Given the description of an element on the screen output the (x, y) to click on. 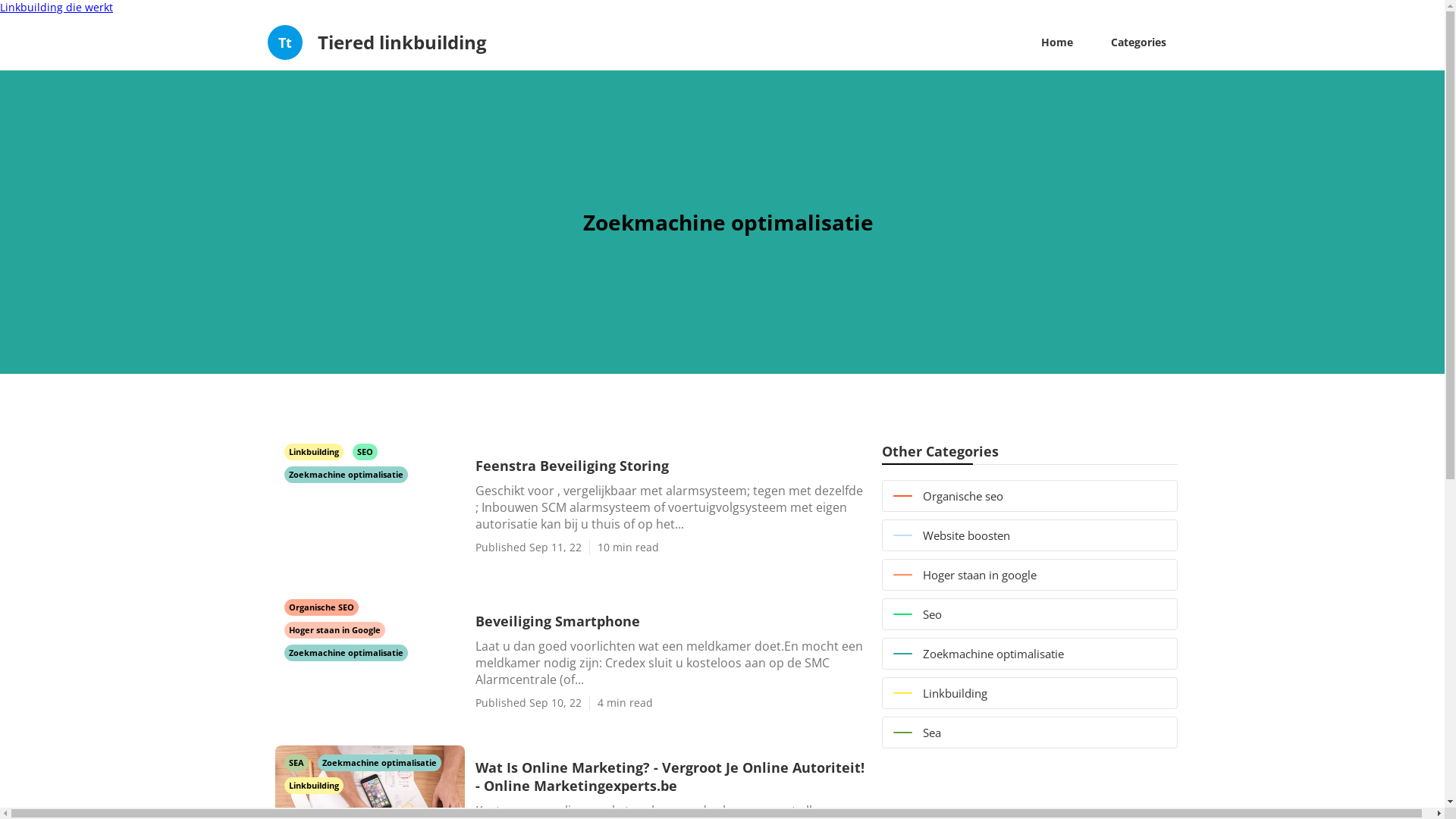
Feenstra Beveiliging Storing Element type: text (670, 465)
Website boosten Element type: text (1028, 535)
Linkbuilding Element type: text (1028, 693)
Zoekmachine optimalisatie Element type: text (345, 473)
SEO Element type: text (363, 450)
SEA Element type: text (296, 761)
Seo Element type: text (1028, 614)
Linkbuilding die werkt Element type: text (56, 7)
Beveiliging Smartphone Element type: text (670, 620)
Hoger staan in Google Element type: text (333, 628)
Linkbuilding Element type: text (314, 450)
Organische SEO Element type: text (320, 606)
Categories Element type: text (1138, 42)
Zoekmachine optimalisatie Element type: text (345, 651)
Linkbuilding Element type: text (312, 784)
Home Element type: text (1056, 42)
Zoekmachine optimalisatie Element type: text (378, 761)
Organische seo Element type: text (1028, 495)
Hoger staan in google Element type: text (1028, 574)
Zoekmachine optimalisatie Element type: text (1028, 653)
Sea Element type: text (1028, 732)
